Given the description of an element on the screen output the (x, y) to click on. 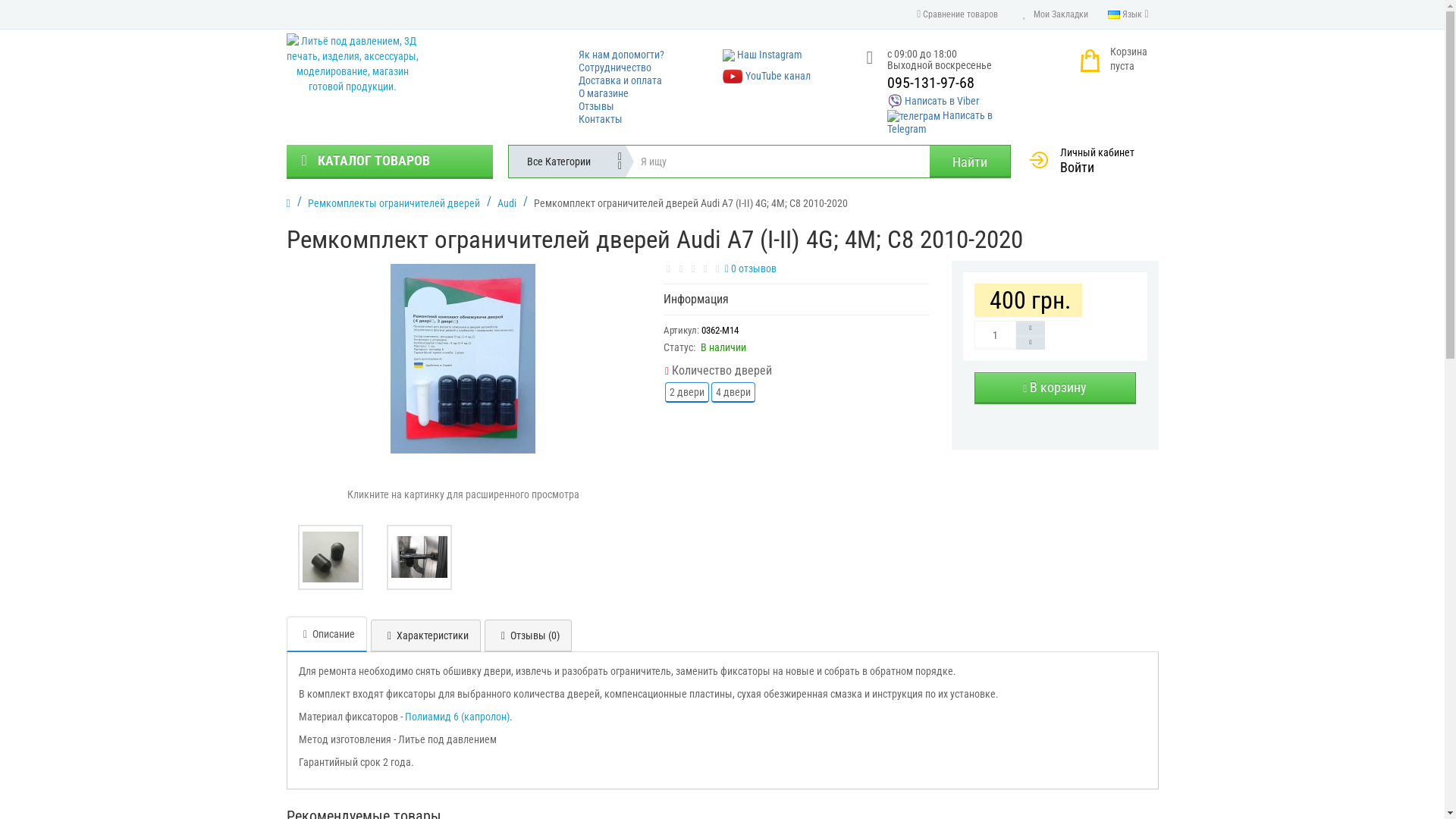
Audi Element type: text (506, 203)
